Given the description of an element on the screen output the (x, y) to click on. 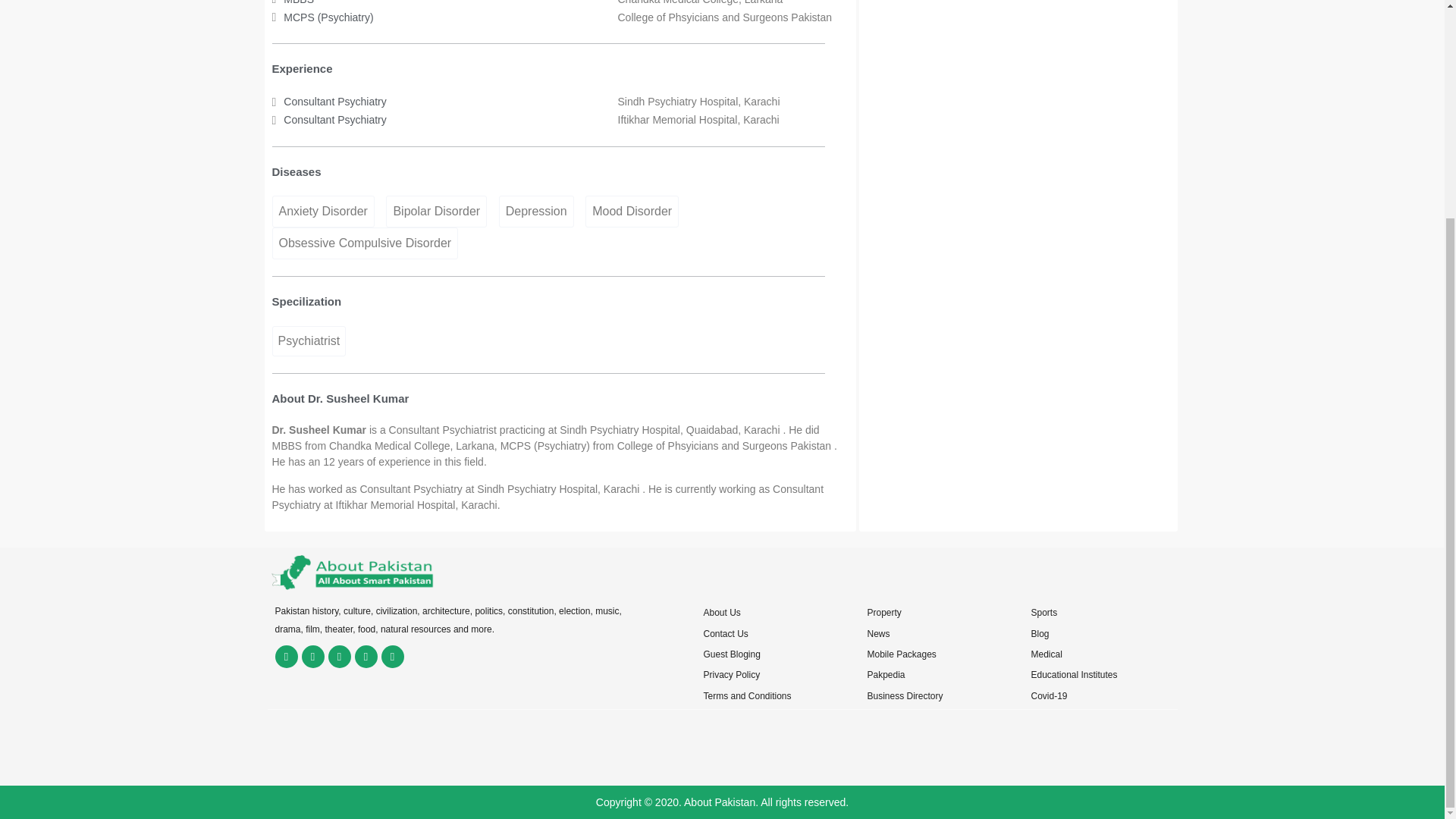
Pakpedia (885, 674)
Business Directory (904, 696)
Blog (1039, 633)
Educational Institutes (1073, 674)
Terms and Conditions (746, 696)
Bipolar Disorder (435, 211)
Anxiety Disorder (322, 211)
Obsessive Compulsive Disorder (364, 243)
Property (883, 612)
Mobile Packages (901, 654)
Sports (1043, 612)
Privacy Policy (731, 674)
News (877, 633)
Guest Bloging (731, 654)
Psychiatrist (308, 340)
